Given the description of an element on the screen output the (x, y) to click on. 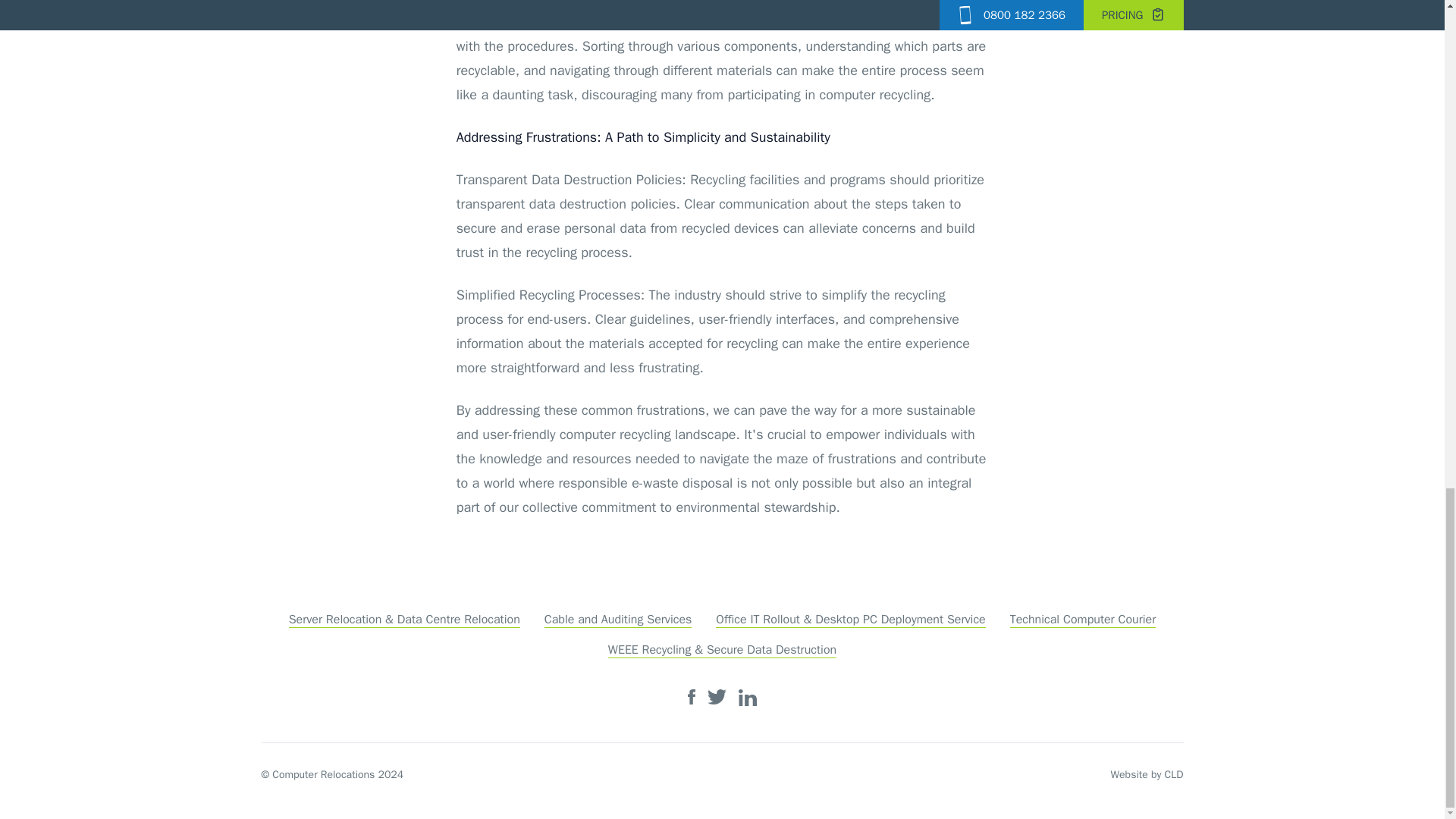
LinkedIn (747, 697)
Twitter (716, 696)
Website by CLD (1146, 774)
Cable and Auditing Services (618, 619)
Technical Computer Courier (1083, 619)
